Given the description of an element on the screen output the (x, y) to click on. 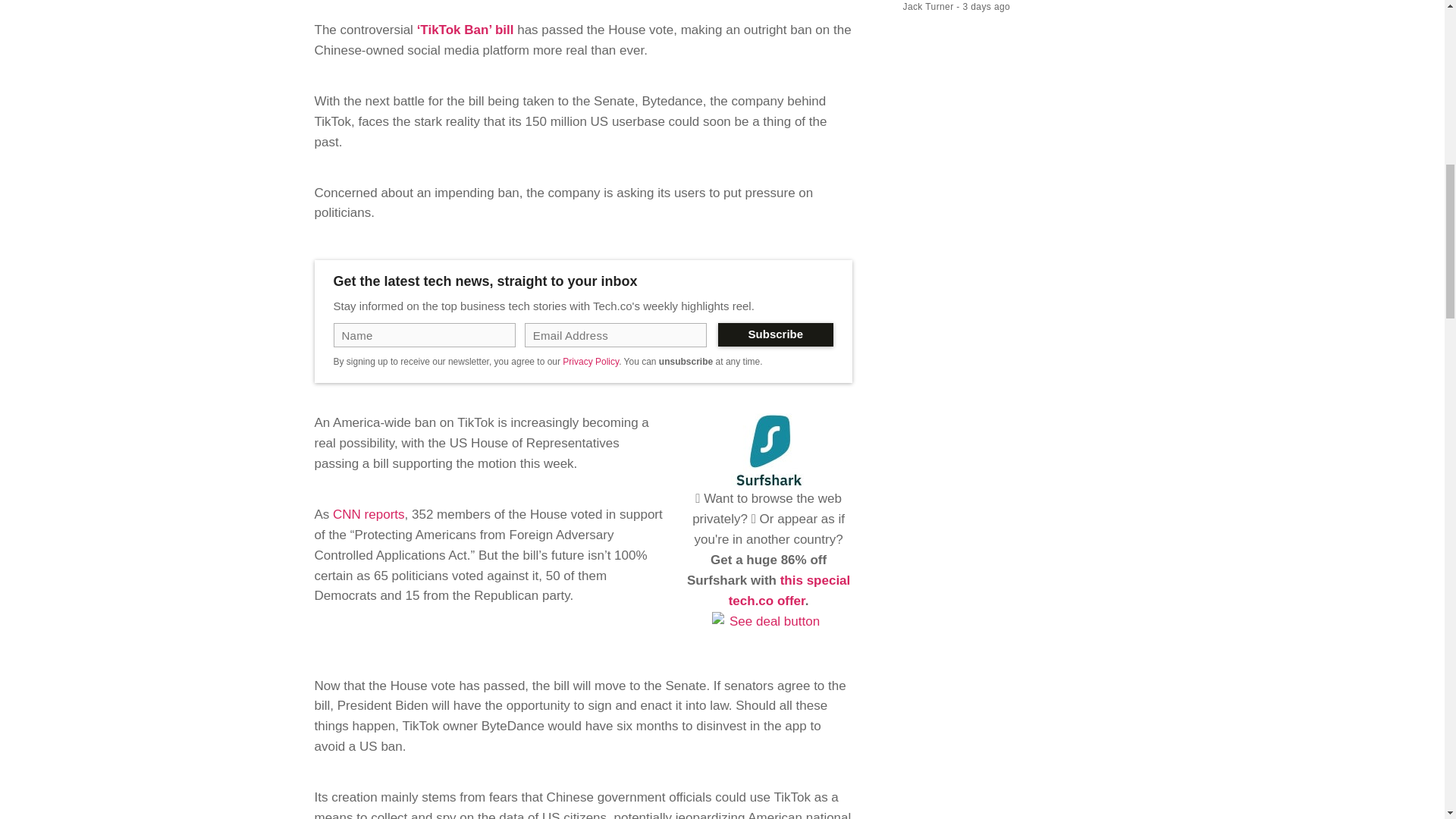
Privacy Policy (590, 361)
